Given the description of an element on the screen output the (x, y) to click on. 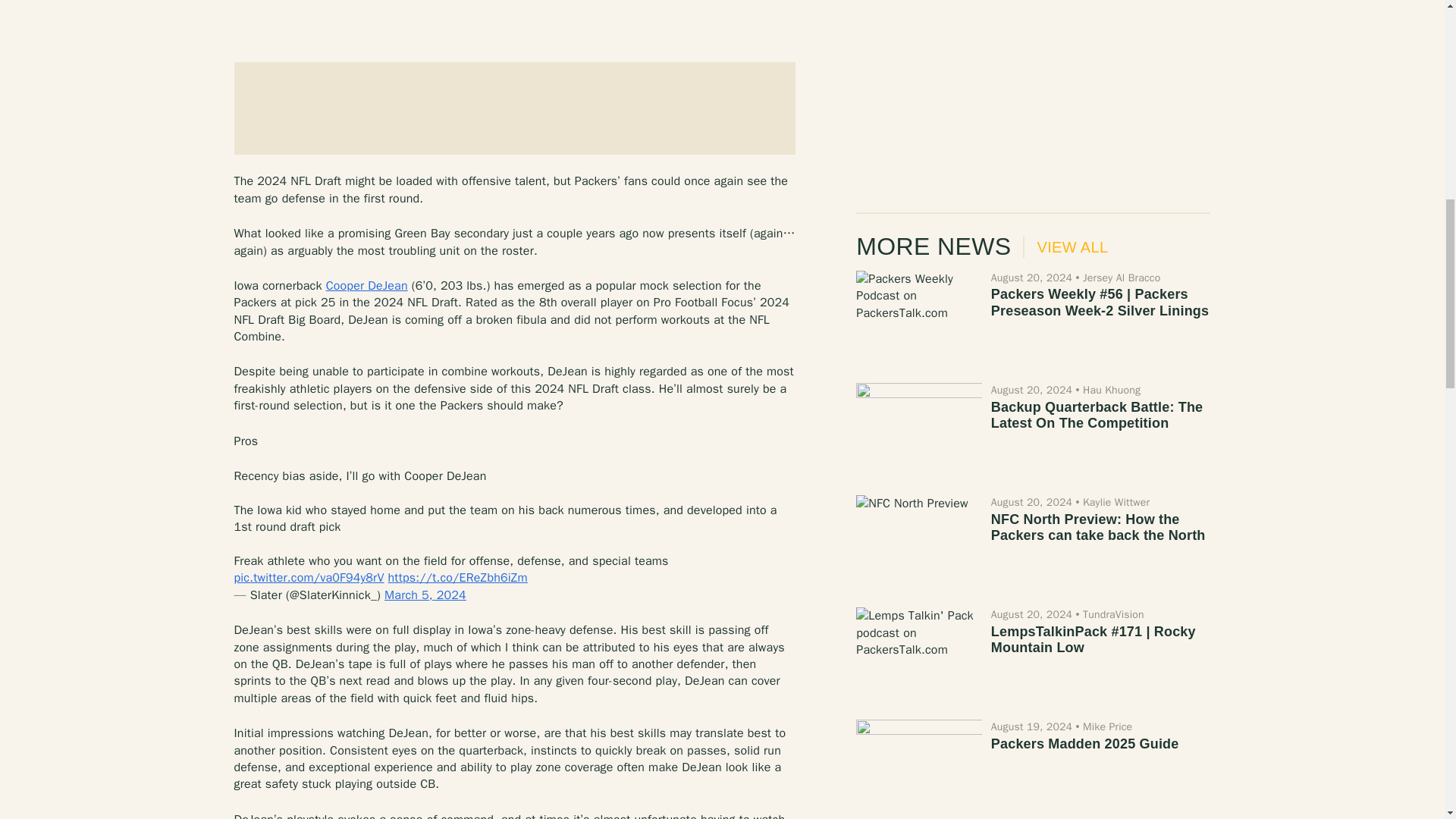
Packers Madden 2025 Guide (918, 766)
March 5, 2024 (424, 595)
Backup Quarterback Battle: The Latest On The Competition (918, 429)
NFC North Preview: How the Packers can take back the North (918, 541)
NFC North Preview: How the Packers can take back the North (1098, 527)
Backup Quarterback Battle: The Latest On The Competition (1096, 415)
Packers Madden 2025 Guide (1085, 743)
Cooper DeJean (366, 285)
